Given the description of an element on the screen output the (x, y) to click on. 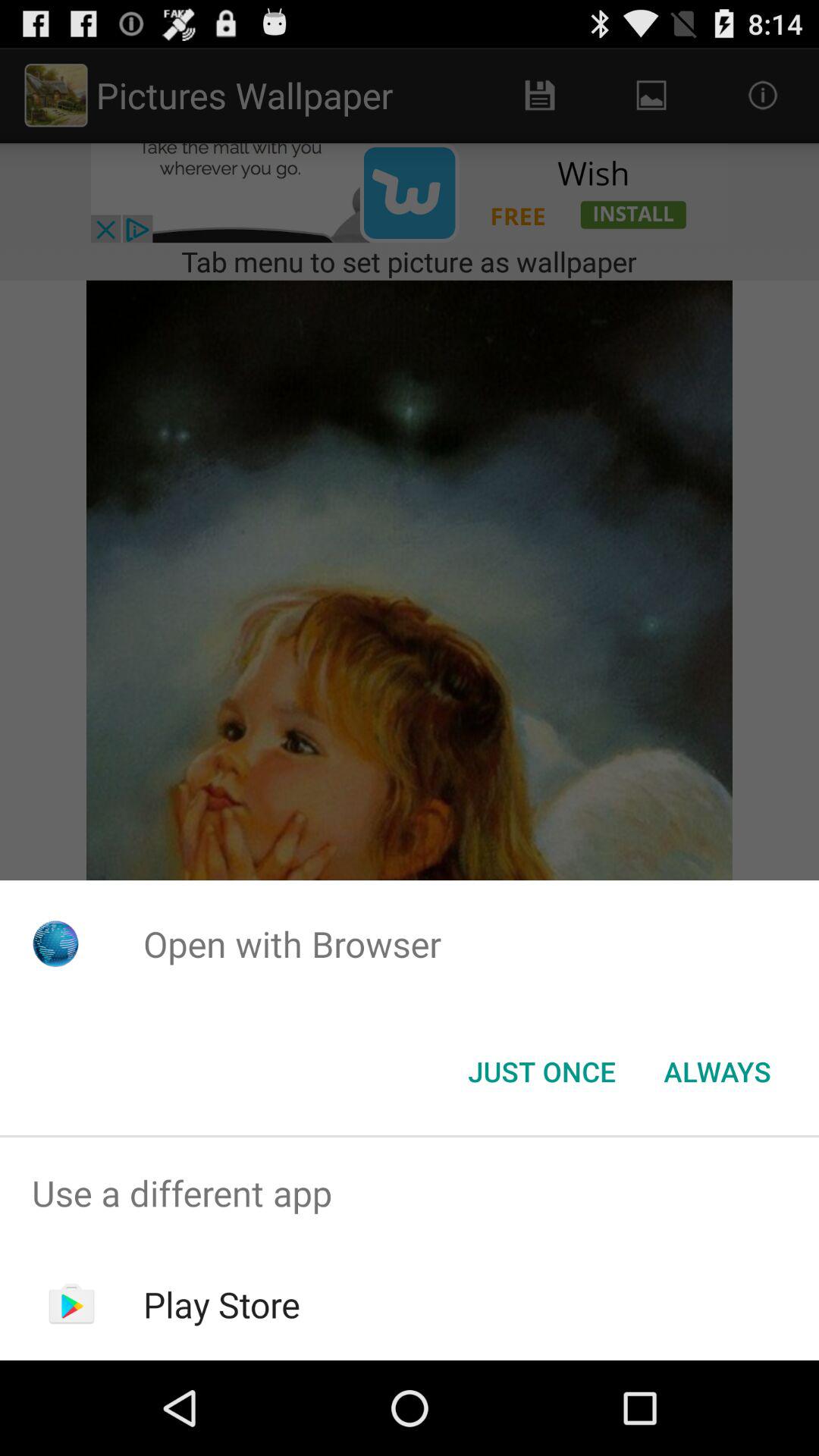
turn off use a different app (409, 1192)
